Given the description of an element on the screen output the (x, y) to click on. 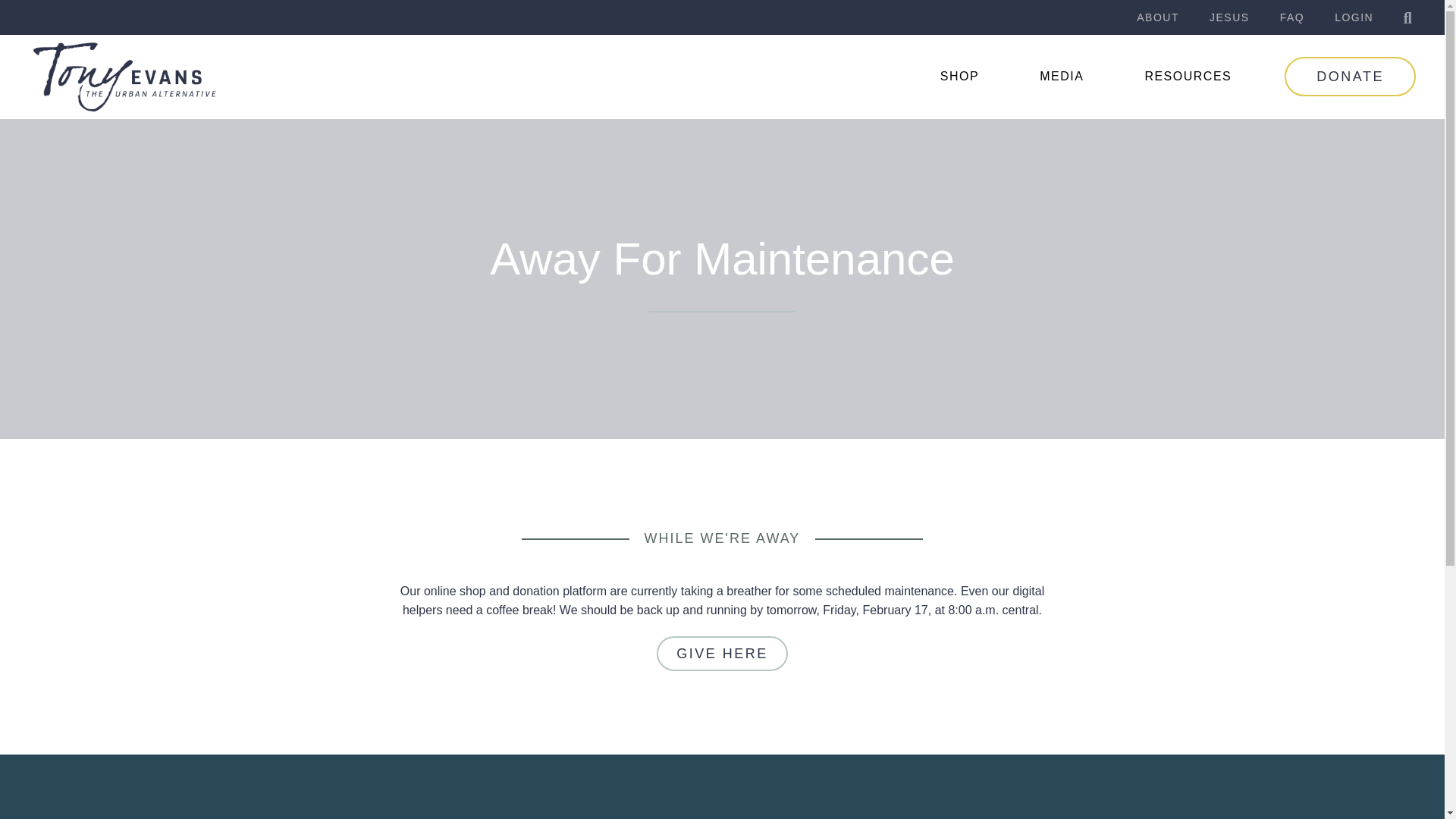
LOGIN (1354, 17)
SHOP (962, 76)
JESUS (1229, 17)
RESOURCES (1191, 76)
ABOUT (1157, 17)
FAQ (1292, 17)
MEDIA (1065, 76)
